Given the description of an element on the screen output the (x, y) to click on. 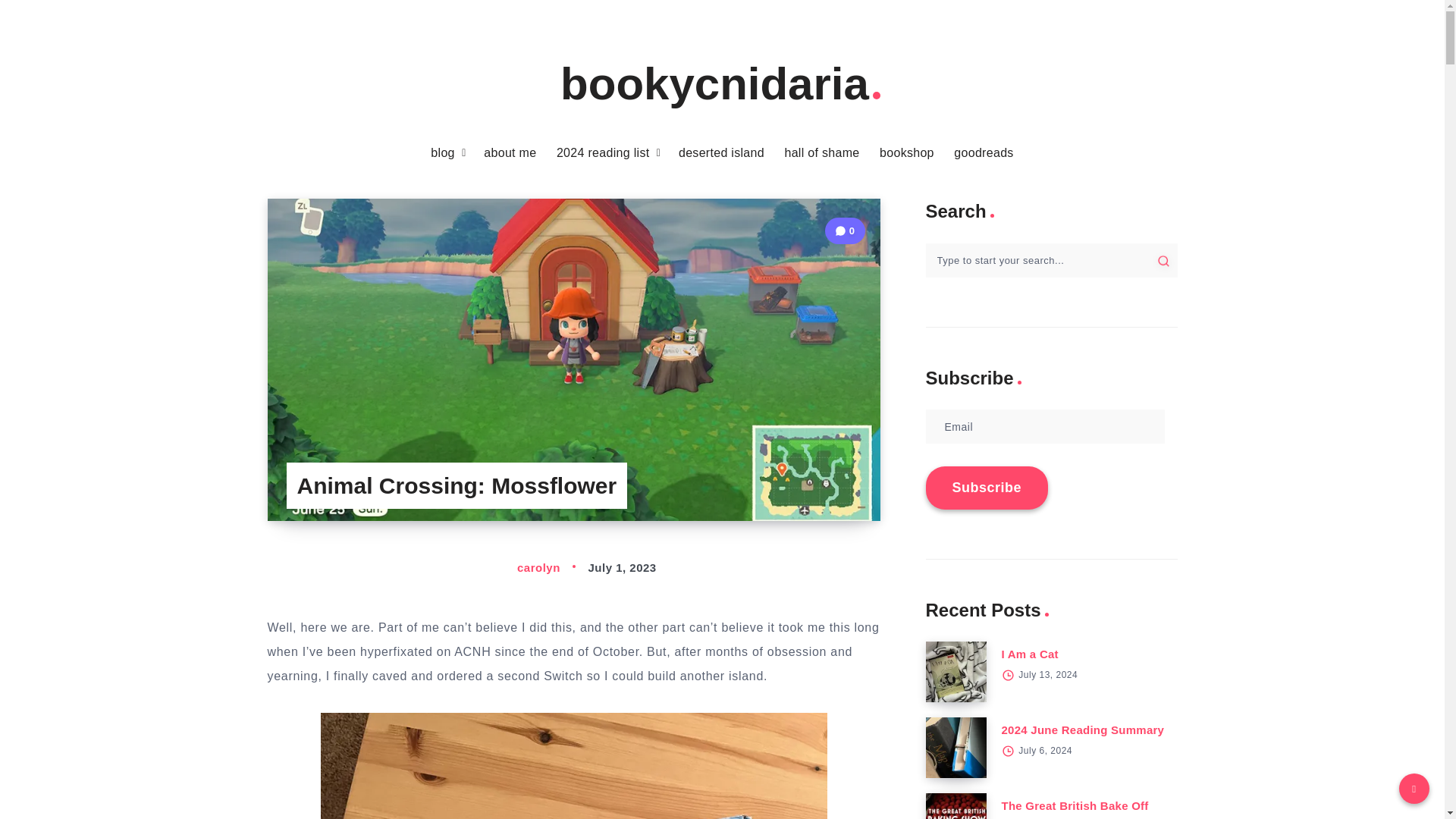
bookycnidaria (721, 83)
0 Comments (845, 230)
blog (442, 152)
Author: carolyn (522, 567)
